Given the description of an element on the screen output the (x, y) to click on. 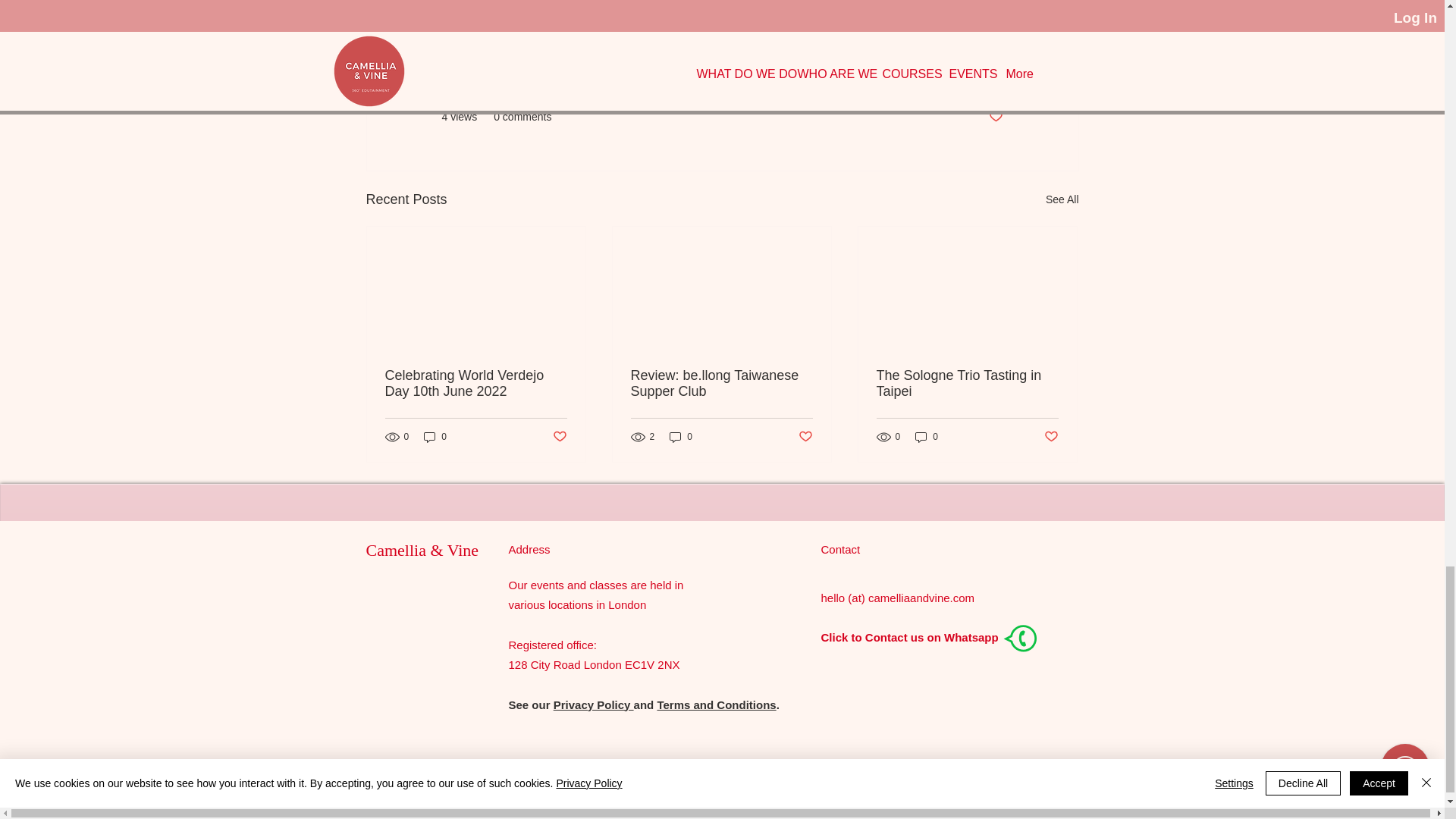
See All (1061, 199)
Wine (990, 70)
Post not marked as liked (995, 116)
Organic Wine (930, 70)
